Given the description of an element on the screen output the (x, y) to click on. 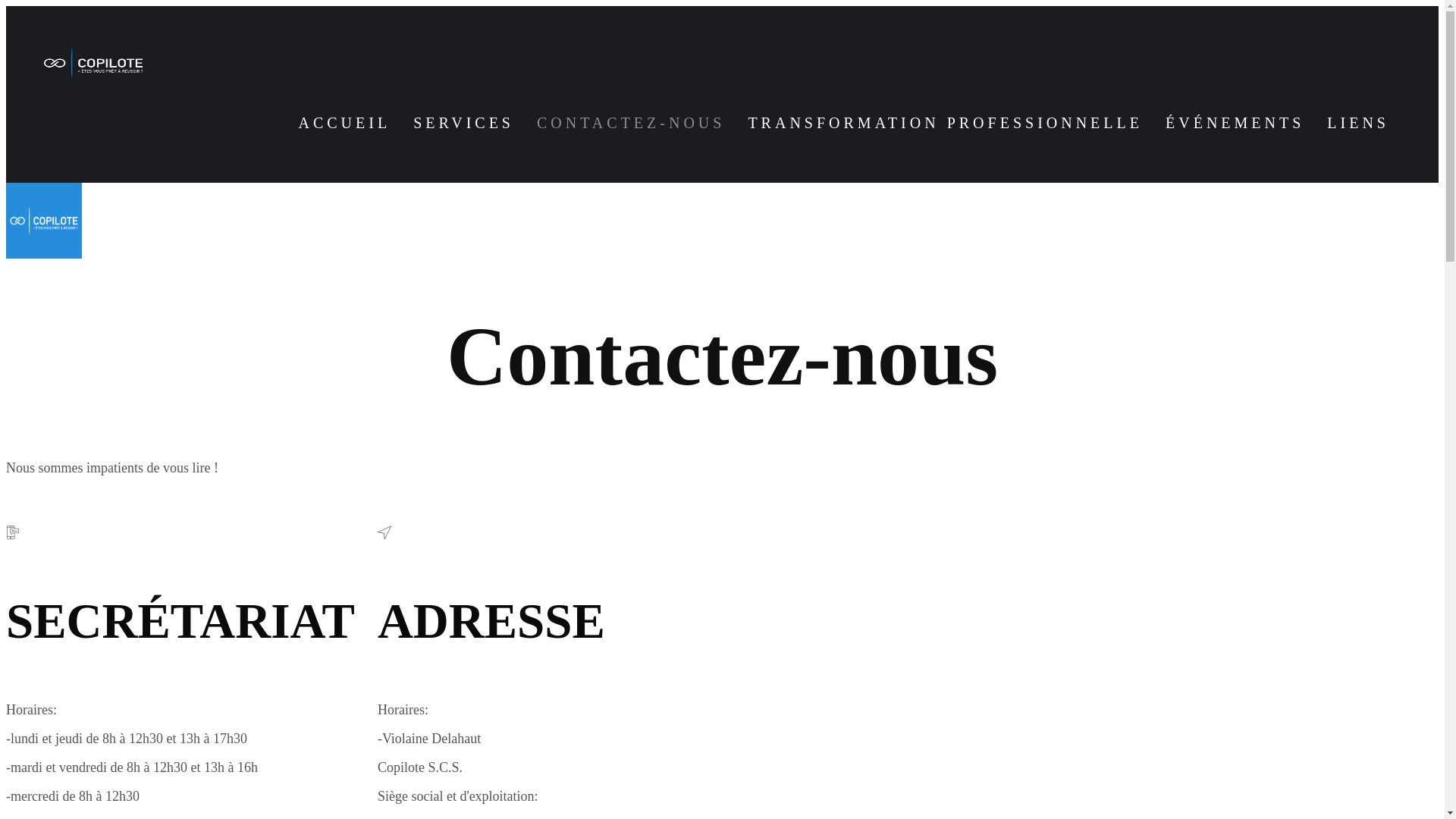
TRANSFORMATION PROFESSIONNELLE Element type: text (945, 122)
LIENS Element type: text (1357, 122)
SERVICES Element type: text (463, 122)
CONTACTEZ-NOUS Element type: text (630, 122)
ACCUEIL Element type: text (343, 122)
